Given the description of an element on the screen output the (x, y) to click on. 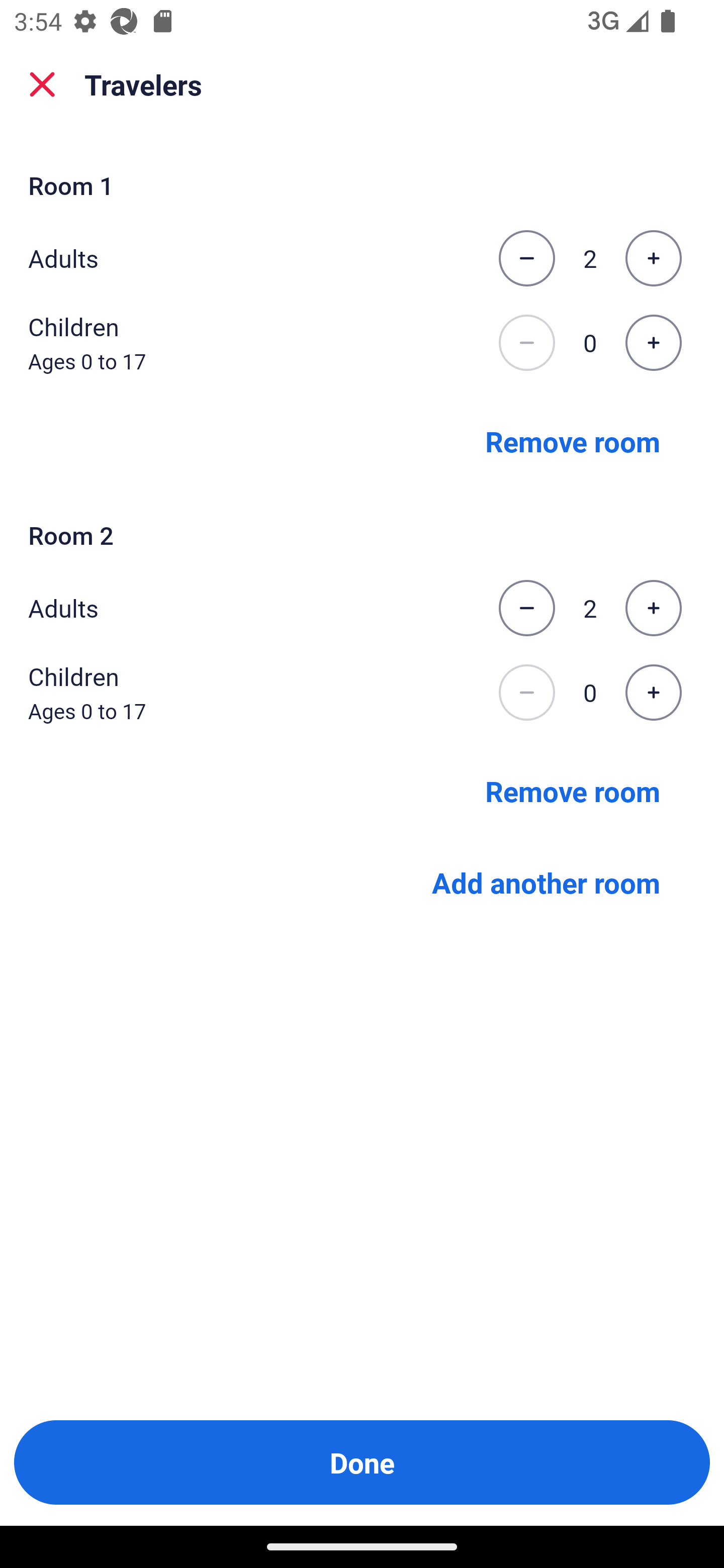
close (42, 84)
Decrease the number of adults (526, 258)
Increase the number of adults (653, 258)
Decrease the number of children (526, 343)
Increase the number of children (653, 343)
Remove room (572, 440)
Decrease the number of adults (526, 608)
Increase the number of adults (653, 608)
Decrease the number of children (526, 692)
Increase the number of children (653, 692)
Remove room (572, 790)
Add another room (545, 882)
Done (361, 1462)
